Given the description of an element on the screen output the (x, y) to click on. 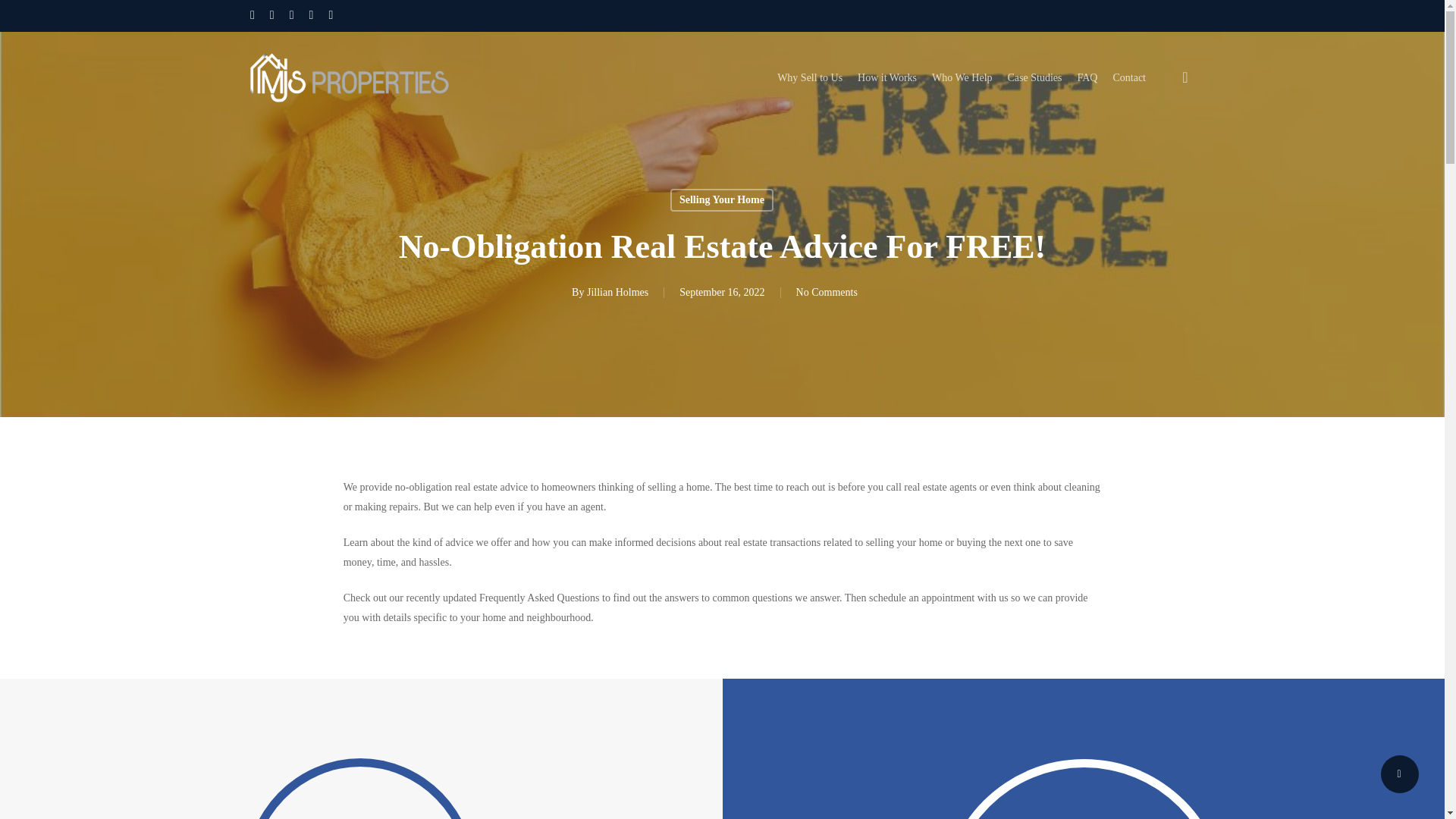
Case Studies (1034, 78)
Jillian Holmes (616, 292)
Why Sell to Us (810, 78)
How it Works (887, 78)
Who We Help (961, 78)
Contact (1128, 78)
Selling Your Home (721, 200)
FAQ (1087, 78)
search (1184, 77)
No Comments (826, 292)
